Given the description of an element on the screen output the (x, y) to click on. 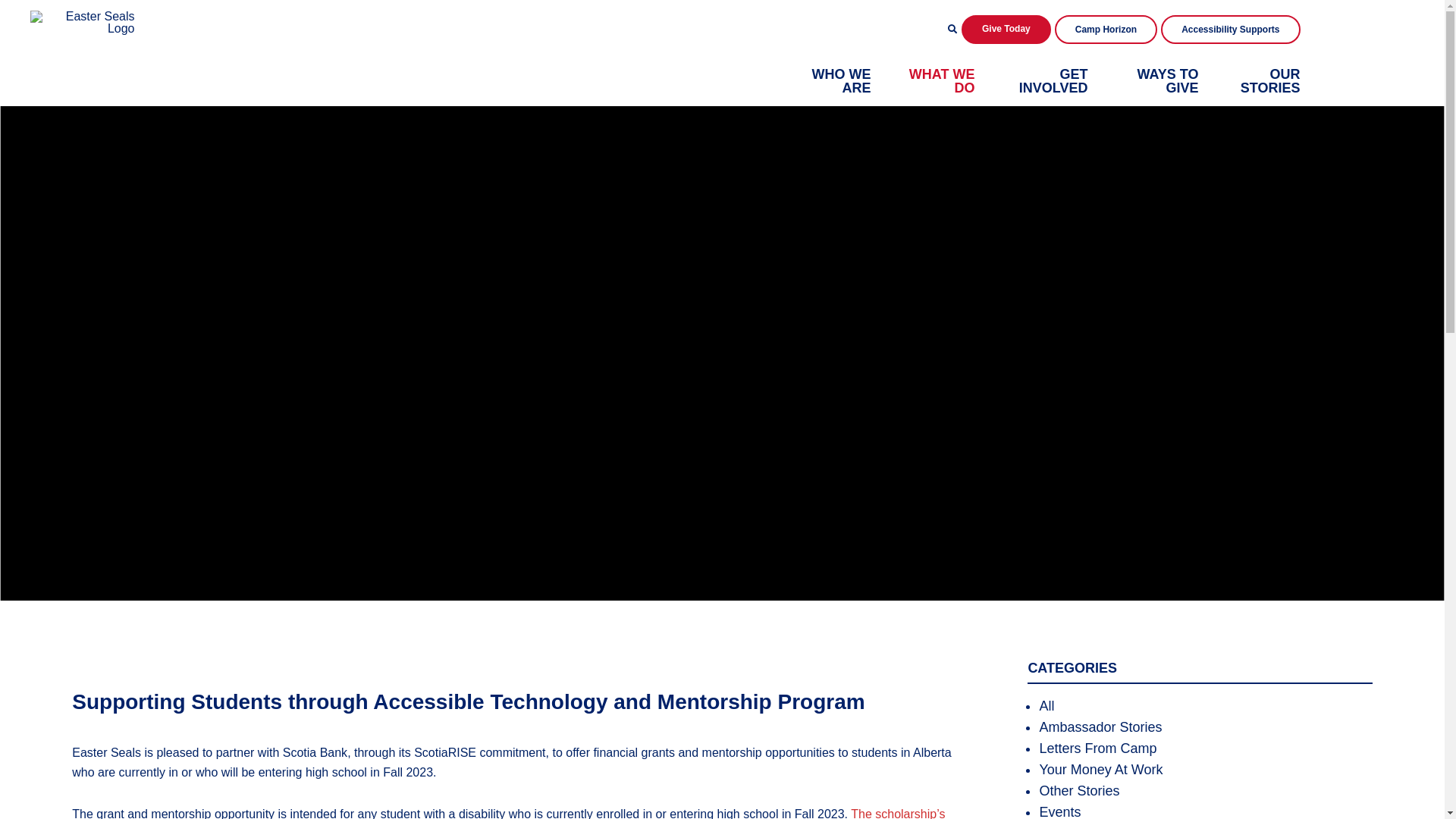
Scotia Bank Element type: text (314, 752)
All Element type: text (1046, 705)
WAYS TO GIVE Element type: text (1167, 80)
Other Stories Element type: text (1078, 790)
WHO WE ARE Element type: text (840, 80)
Accessibility Supports Element type: text (1230, 29)
OUR STORIES Element type: text (1270, 80)
WHAT WE DO Element type: text (942, 80)
Ambassador Stories Element type: text (1099, 726)
Give Today Element type: text (1006, 29)
Camp Horizon Element type: text (1105, 29)
Your Money At Work Element type: text (1100, 769)
GET INVOLVED Element type: text (1053, 80)
Letters From Camp Element type: text (1097, 748)
Accessibility Supports Element type: text (1230, 29)
Camp Horizon Element type: text (1105, 29)
